Given the description of an element on the screen output the (x, y) to click on. 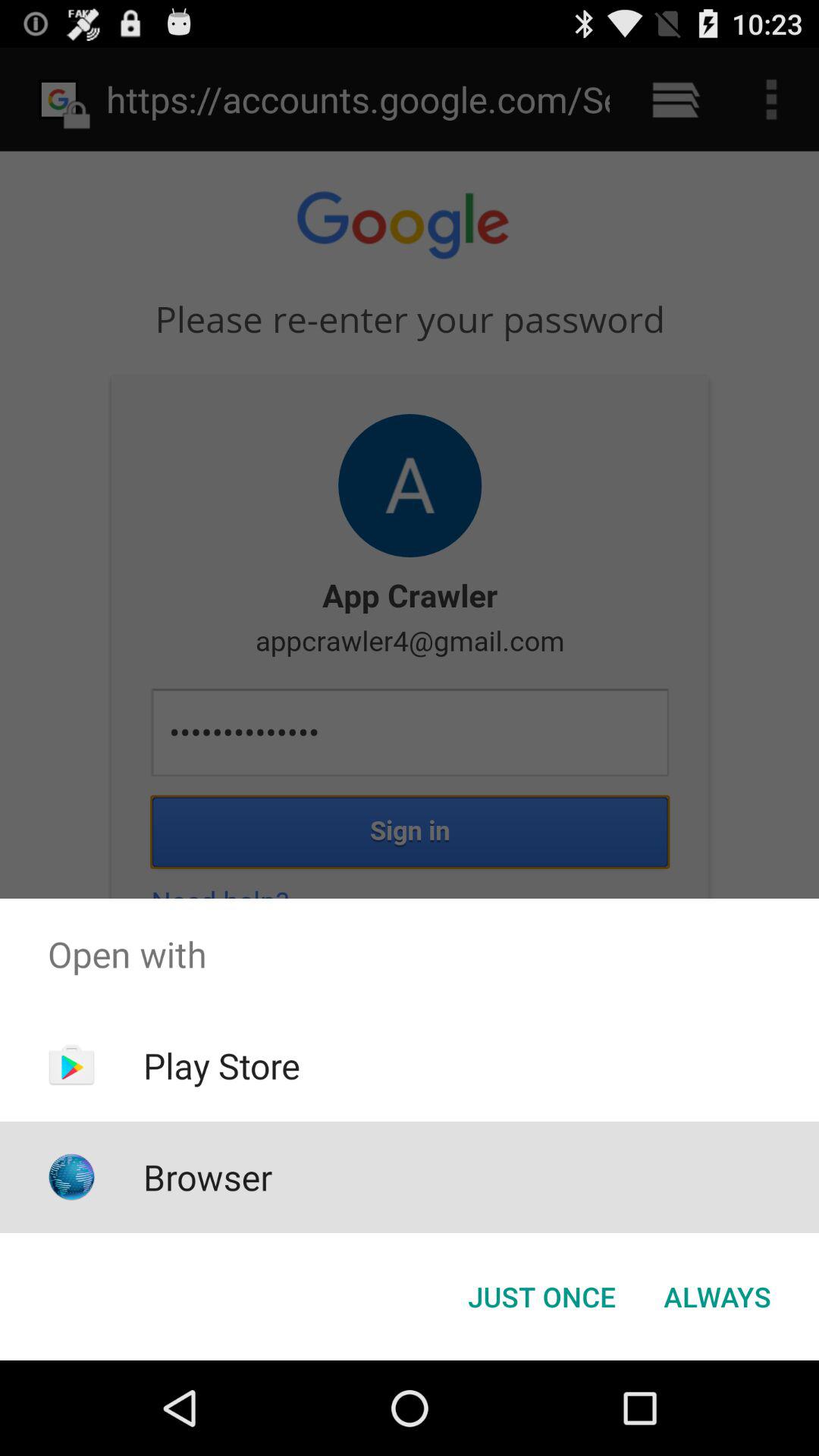
tap button at the bottom (541, 1296)
